Given the description of an element on the screen output the (x, y) to click on. 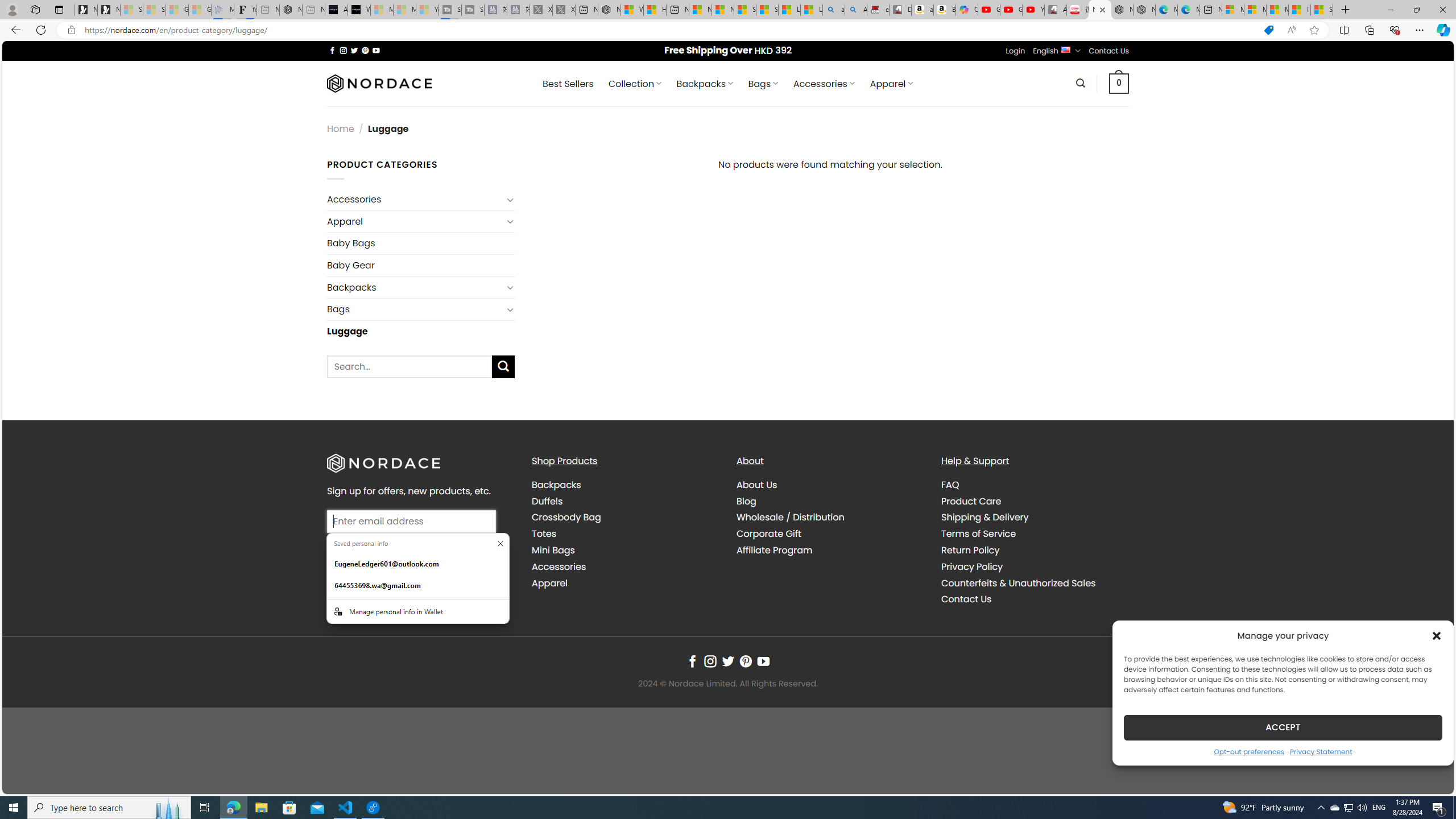
Privacy Policy (971, 566)
Privacy Policy (1034, 566)
Close (1442, 9)
Workspaces (34, 9)
Newsletter Sign Up (109, 9)
Wholesale / Distribution (830, 517)
Blog (746, 500)
Baby Gear (421, 264)
Settings and more (Alt+F) (1419, 29)
Product Care (1034, 501)
Mini Bags (553, 550)
Address and search bar (669, 29)
